Given the description of an element on the screen output the (x, y) to click on. 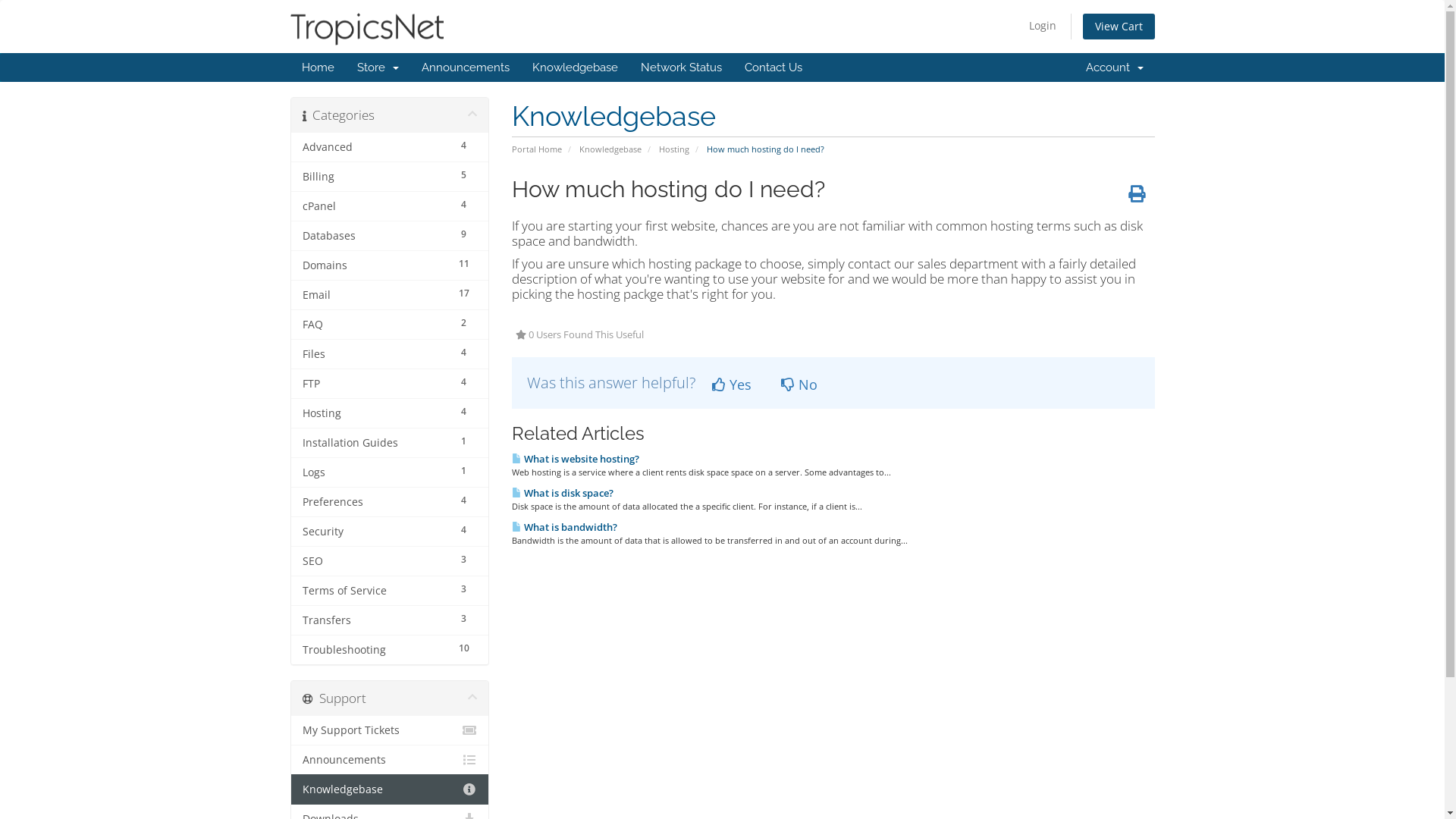
4
FTP Element type: text (390, 383)
Login Element type: text (1041, 25)
Contact Us Element type: text (772, 67)
4
Advanced Element type: text (390, 147)
10
Troubleshooting Element type: text (390, 649)
What is website hosting? Element type: text (575, 458)
9
Databases Element type: text (390, 235)
3
Terms of Service Element type: text (390, 590)
Announcements Element type: text (464, 67)
No Element type: text (799, 384)
4
Files Element type: text (390, 353)
Hosting Element type: text (673, 148)
View Cart Element type: text (1118, 26)
Network Status Element type: text (681, 67)
Home Element type: text (317, 67)
Knowledgebase Element type: text (390, 789)
1
Installation Guides Element type: text (390, 442)
17
Email Element type: text (390, 294)
Yes Element type: text (731, 384)
4
Preferences Element type: text (390, 501)
3
SEO Element type: text (390, 561)
Store   Element type: text (377, 67)
What is disk space? Element type: text (562, 492)
Portal Home Element type: text (536, 148)
4
cPanel Element type: text (390, 206)
3
Transfers Element type: text (390, 620)
Knowledgebase Element type: text (574, 67)
5
Billing Element type: text (390, 176)
4
Hosting Element type: text (390, 413)
Account   Element type: text (1113, 67)
Knowledgebase Element type: text (610, 148)
What is bandwidth? Element type: text (564, 526)
2
FAQ Element type: text (390, 324)
4
Security Element type: text (390, 531)
11
Domains Element type: text (390, 265)
My Support Tickets Element type: text (390, 730)
Announcements Element type: text (390, 759)
1
Logs Element type: text (390, 472)
